Given the description of an element on the screen output the (x, y) to click on. 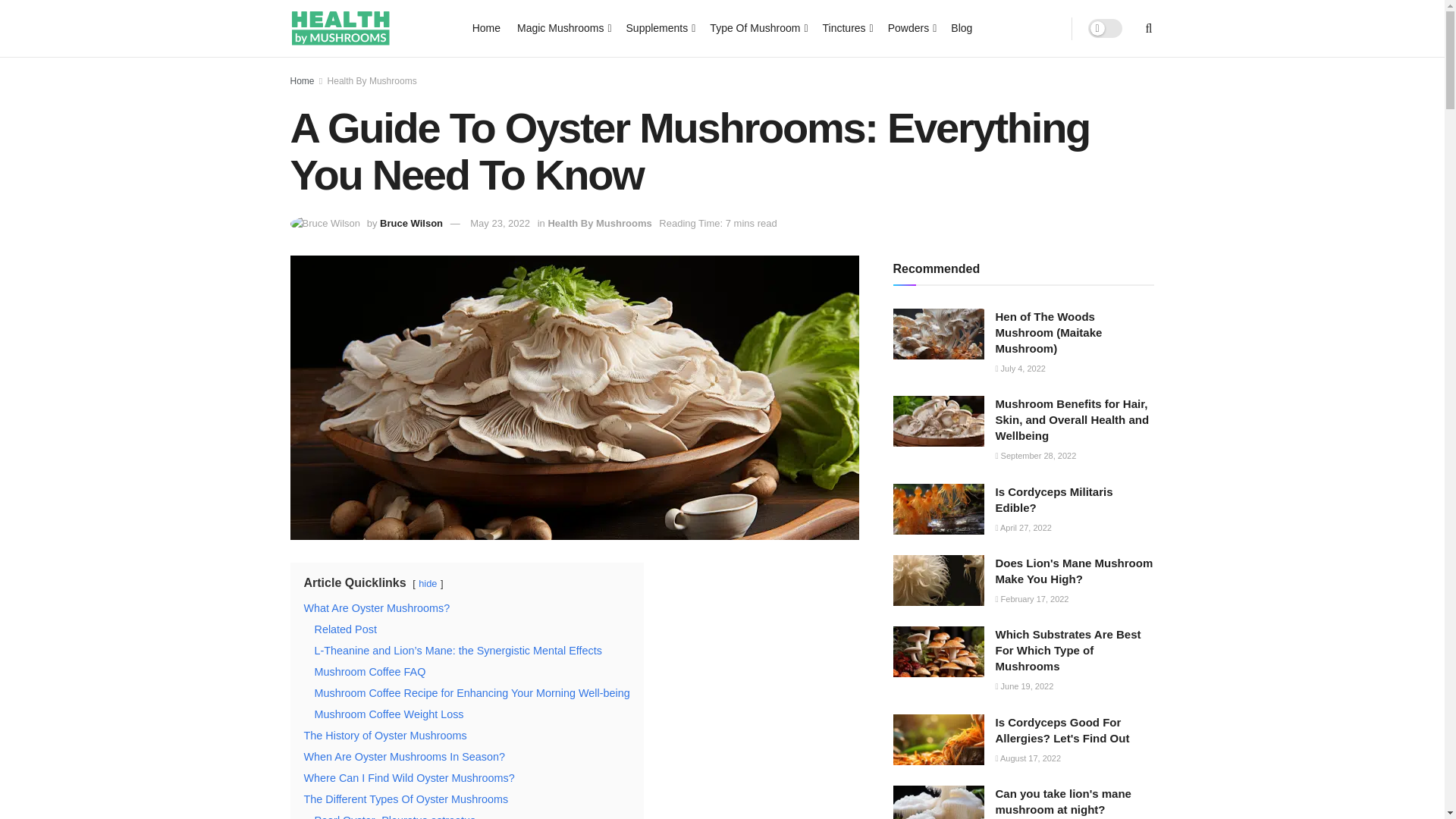
Magic Mushrooms (563, 27)
Home (485, 27)
Type Of Mushroom (757, 27)
Supplements (660, 27)
